Given the description of an element on the screen output the (x, y) to click on. 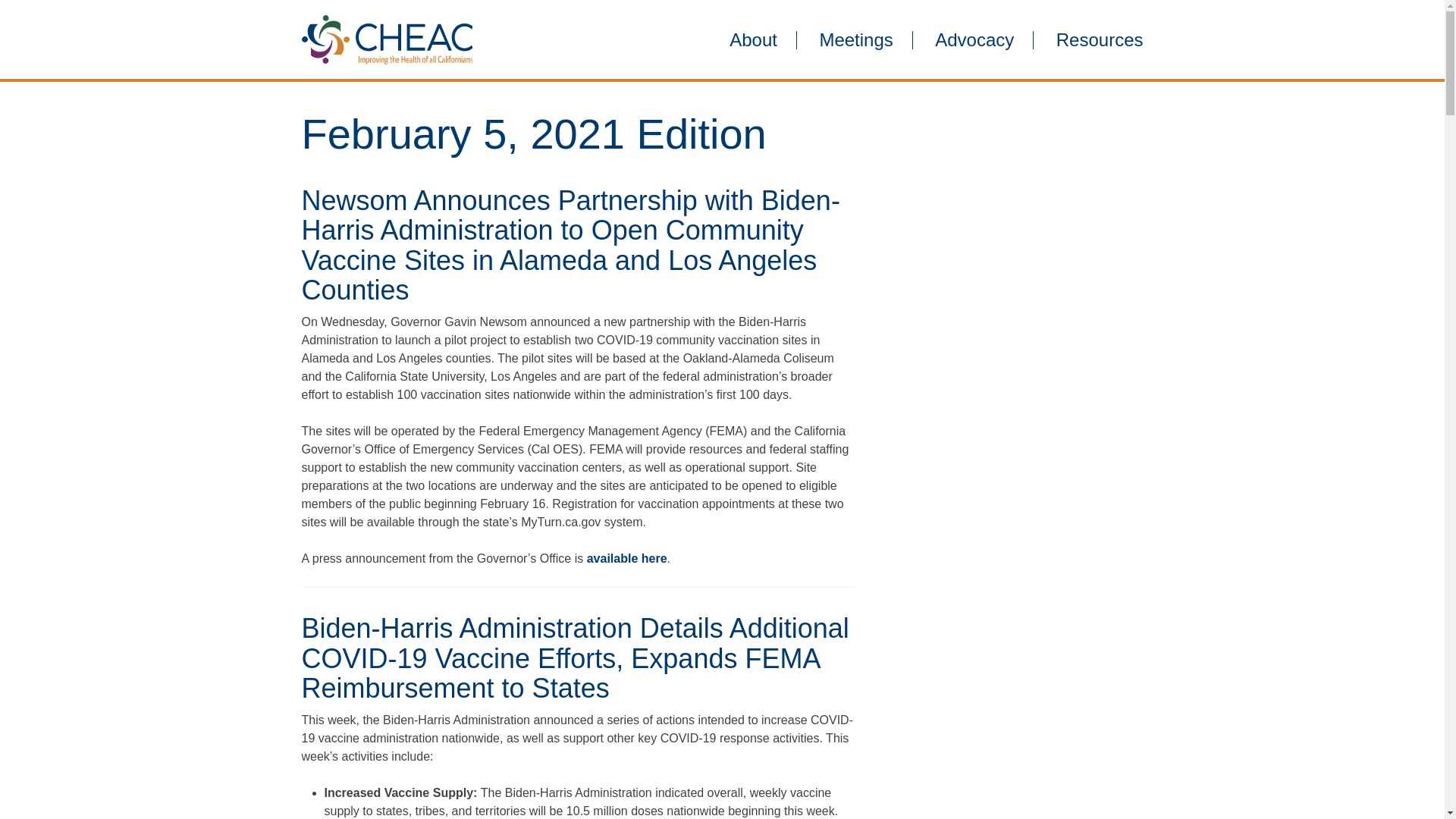
Resources (1089, 40)
Meetings (855, 40)
available here (626, 558)
Advocacy (974, 40)
About (753, 40)
